Given the description of an element on the screen output the (x, y) to click on. 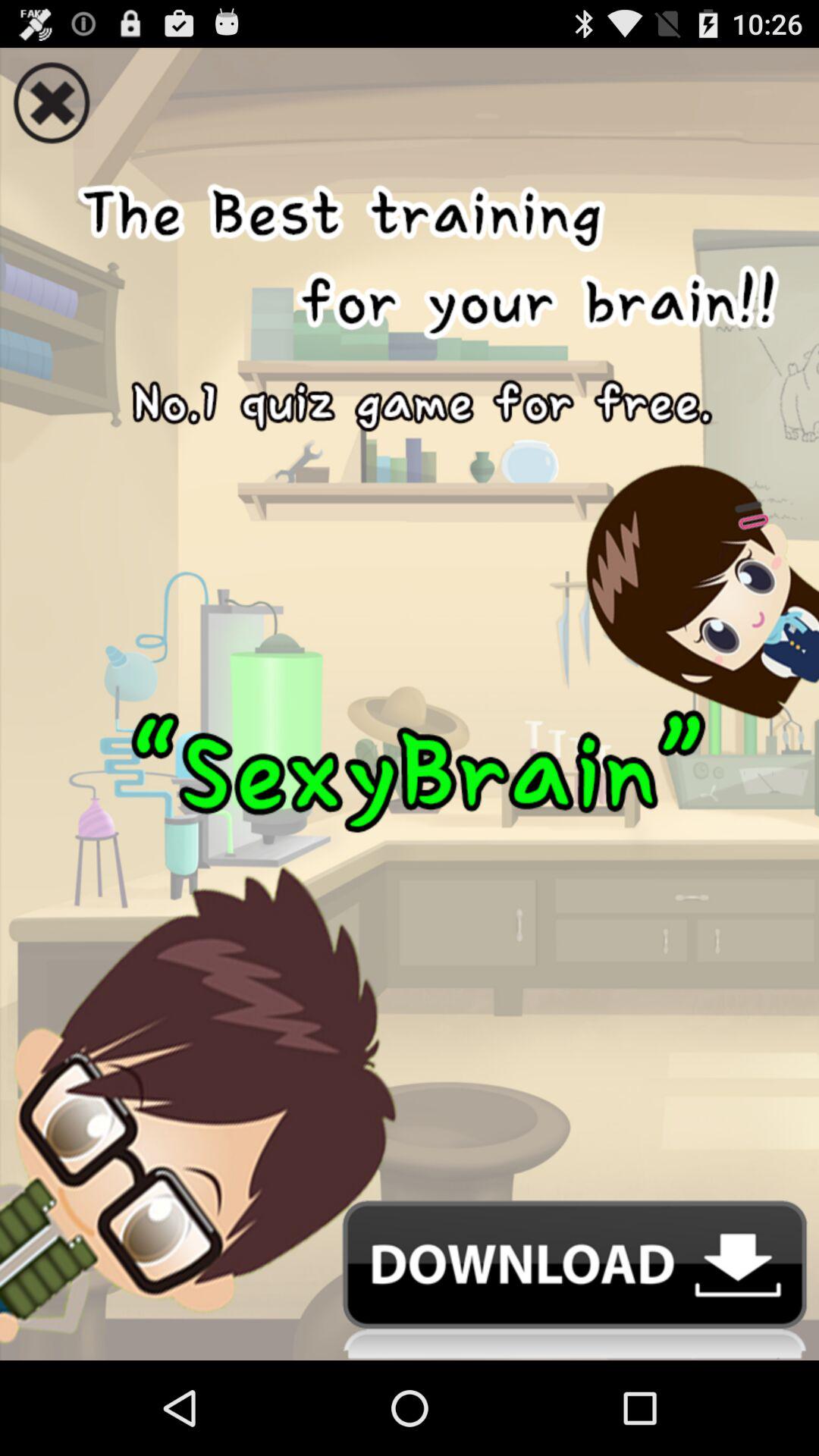
download app (409, 1280)
